Given the description of an element on the screen output the (x, y) to click on. 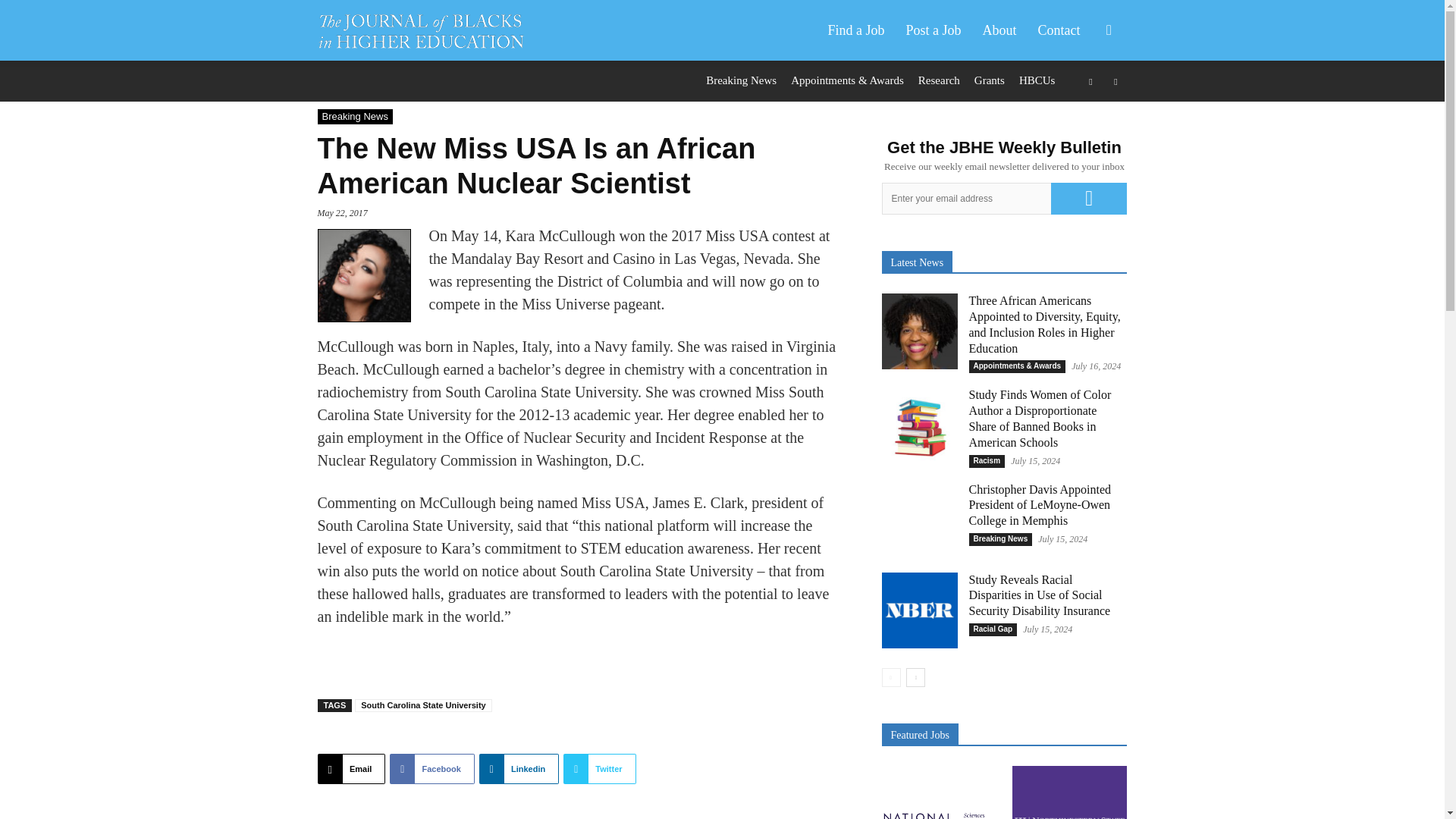
The Journal of Blacks in Higher Education (419, 30)
Linkedin (519, 768)
Twitter (598, 768)
Email (351, 768)
Facebook (432, 768)
South Carolina State University (423, 705)
Find a Job (855, 30)
about (999, 30)
The Journal of Blacks in Higher Education (428, 30)
Contact (1058, 30)
About (999, 30)
HBCUs (1037, 80)
Post a Job (933, 30)
Search (1085, 102)
Email (351, 768)
